Given the description of an element on the screen output the (x, y) to click on. 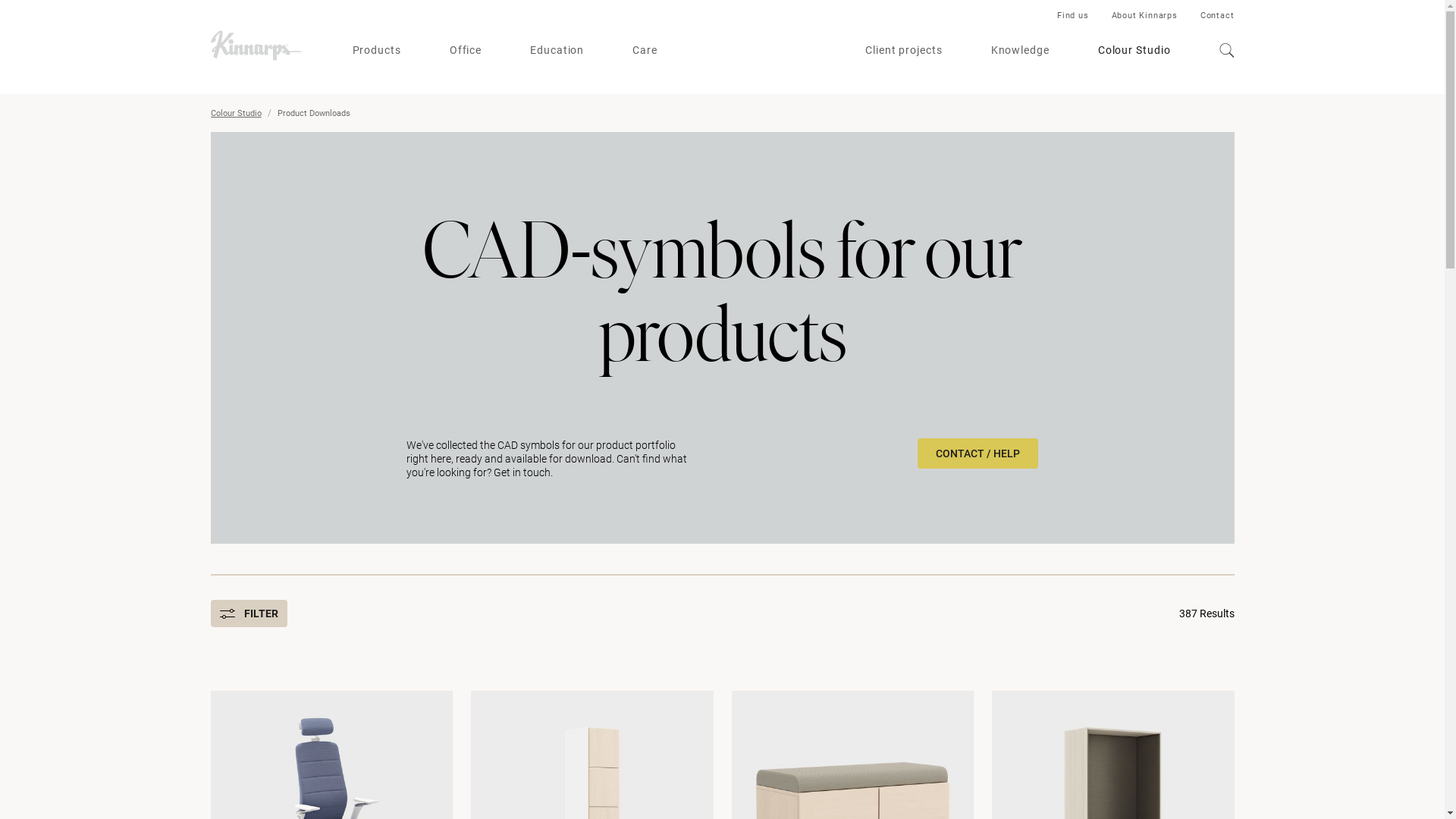
Products (376, 50)
